Given the description of an element on the screen output the (x, y) to click on. 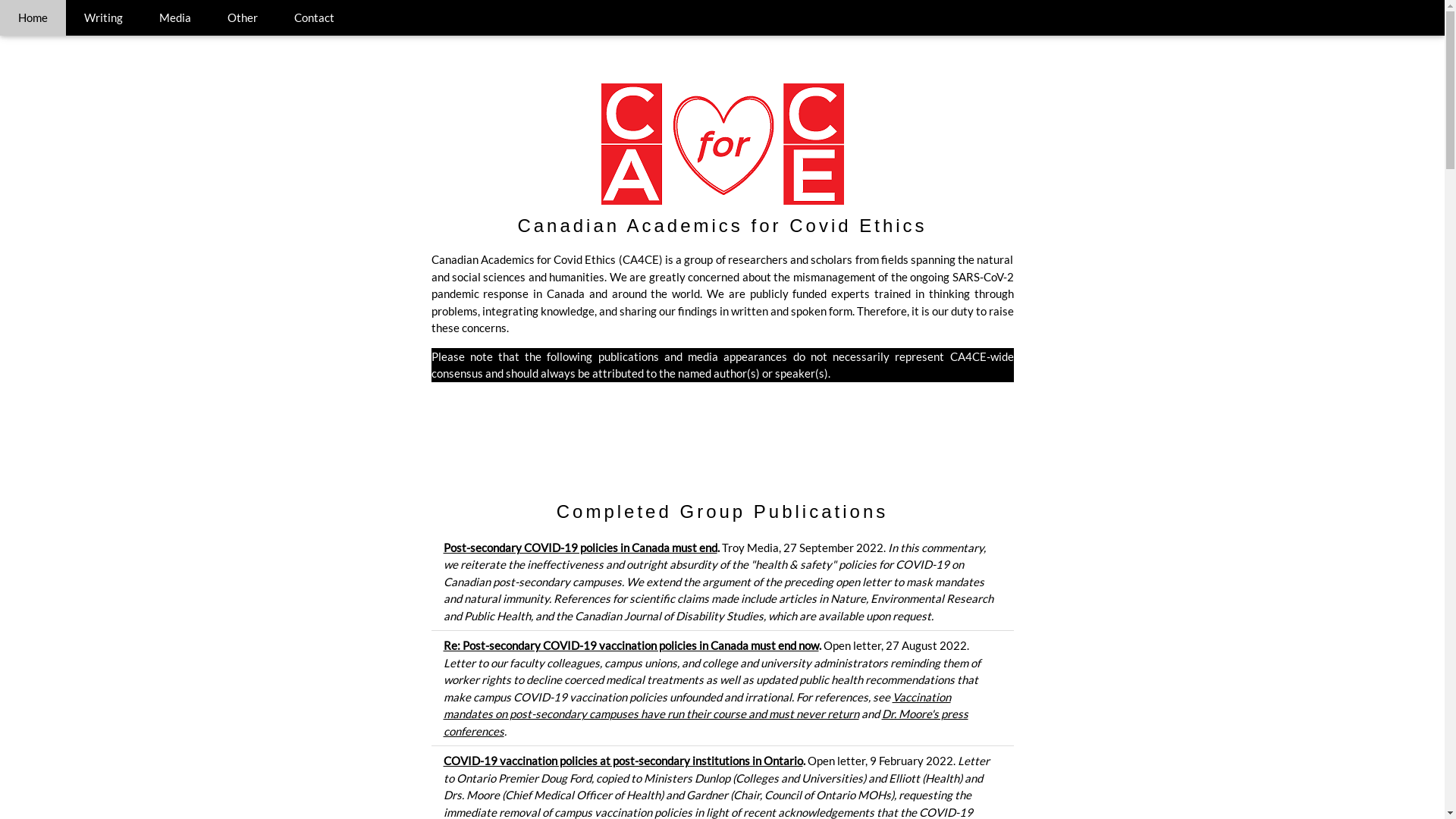
Contact Element type: text (314, 17)
Dr. Moore's press conferences Element type: text (704, 721)
Other Element type: text (242, 17)
Writing Element type: text (103, 17)
Media Element type: text (175, 17)
Post-secondary COVID-19 policies in Canada must end Element type: text (579, 546)
Home Element type: text (32, 17)
